Given the description of an element on the screen output the (x, y) to click on. 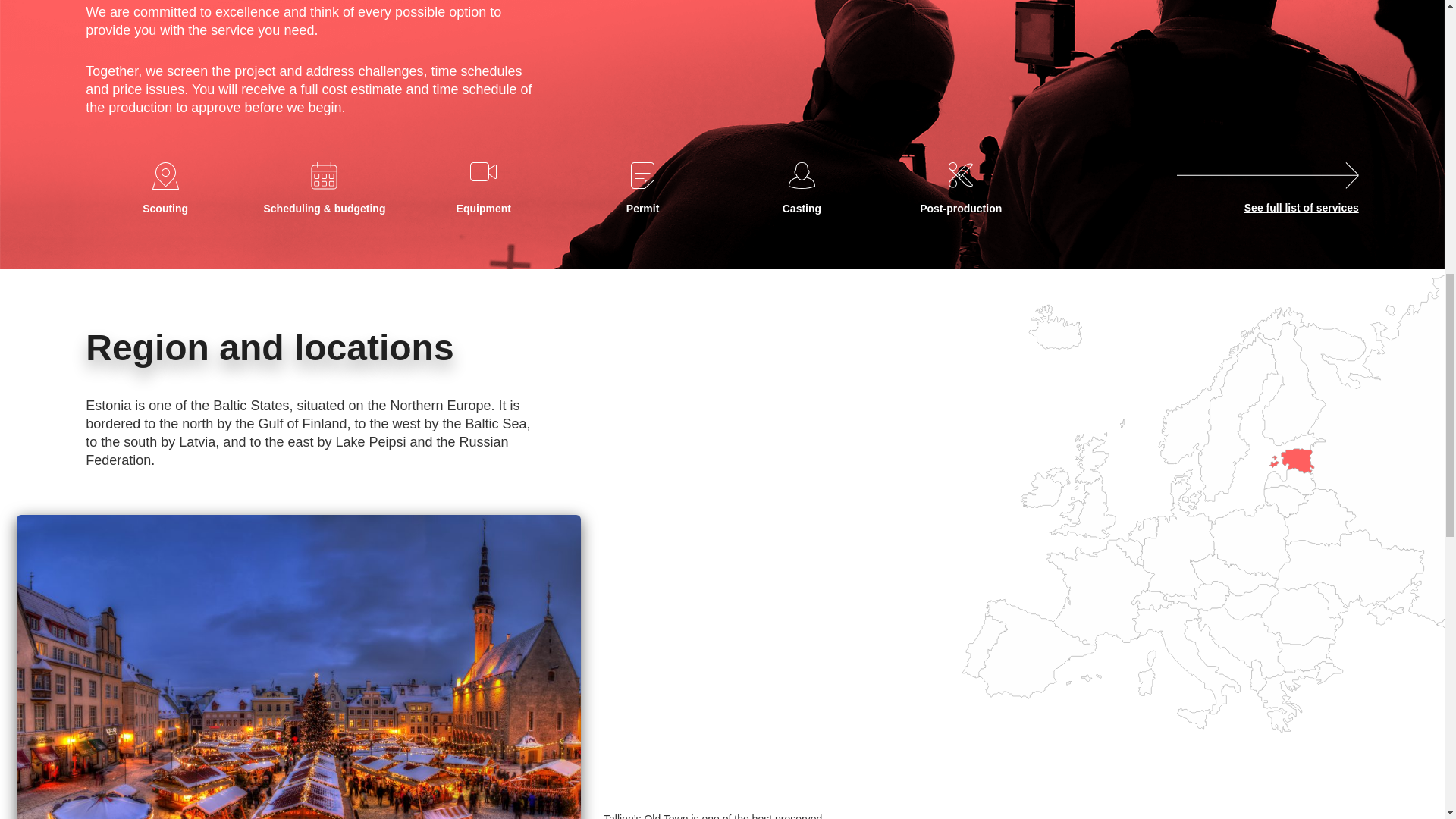
See full list of services (1301, 207)
